Given the description of an element on the screen output the (x, y) to click on. 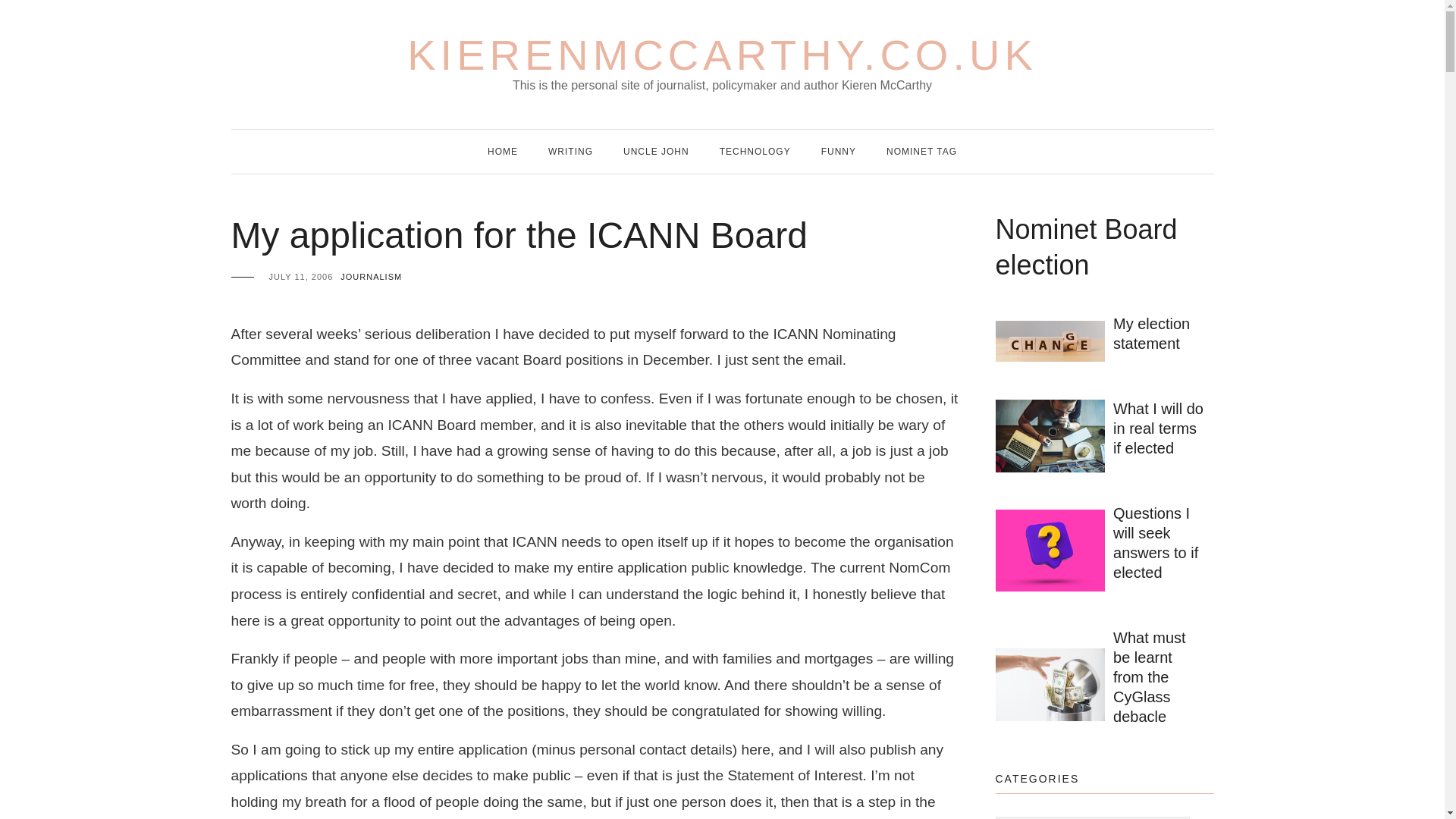
WRITING (570, 151)
NOMINET TAG (921, 151)
JOURNALISM (370, 276)
KIERENMCCARTHY.CO.UK (721, 55)
TECHNOLOGY (754, 151)
UNCLE JOHN (655, 151)
